Given the description of an element on the screen output the (x, y) to click on. 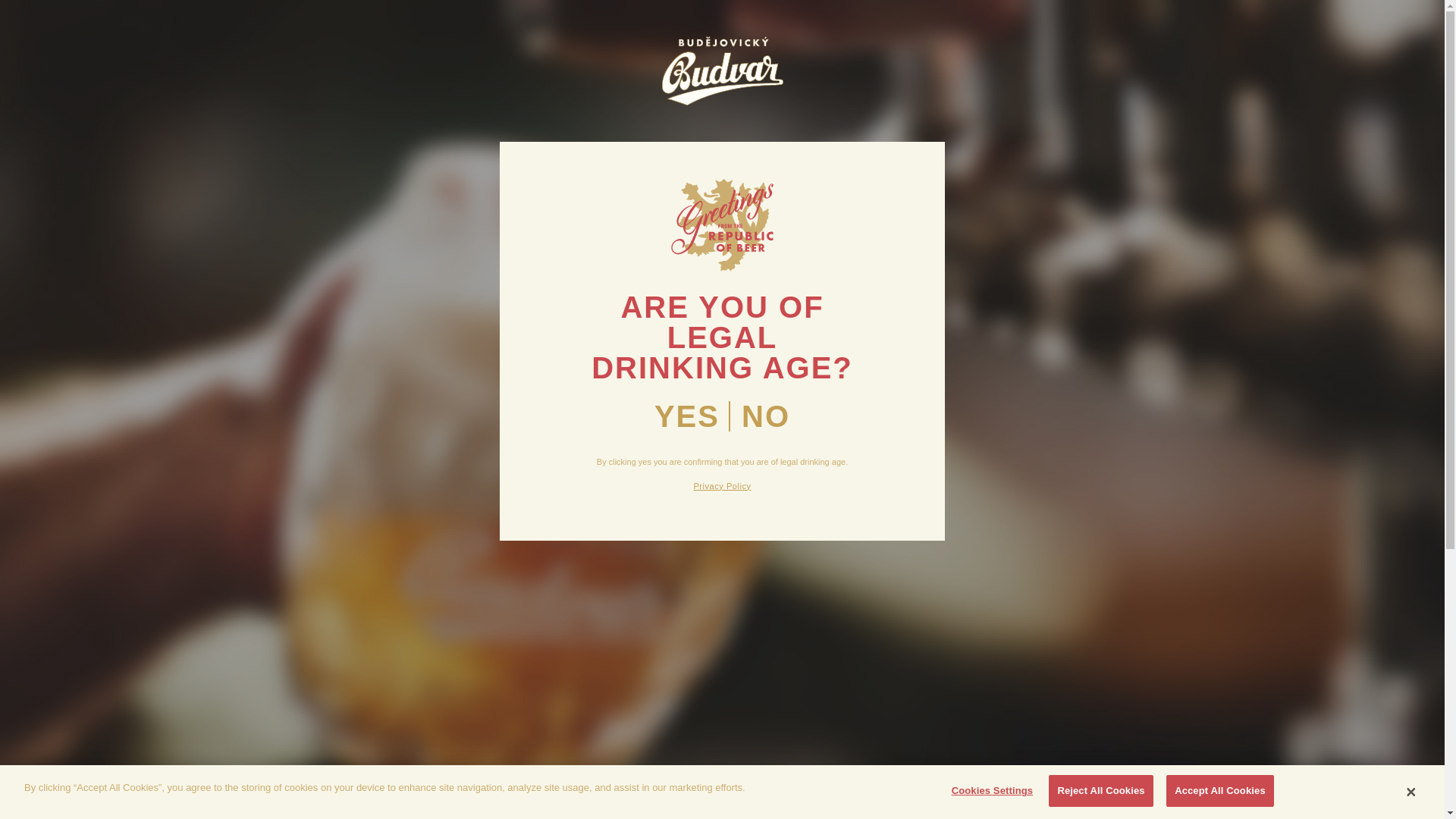
INGREDIENTS (489, 67)
BEERS (328, 67)
YES (686, 416)
Ingredients (489, 67)
VISIT (566, 67)
BREWERY (398, 67)
Visit (566, 67)
NO (765, 416)
Cookies Settings (987, 790)
Privacy Policy (722, 485)
